Given the description of an element on the screen output the (x, y) to click on. 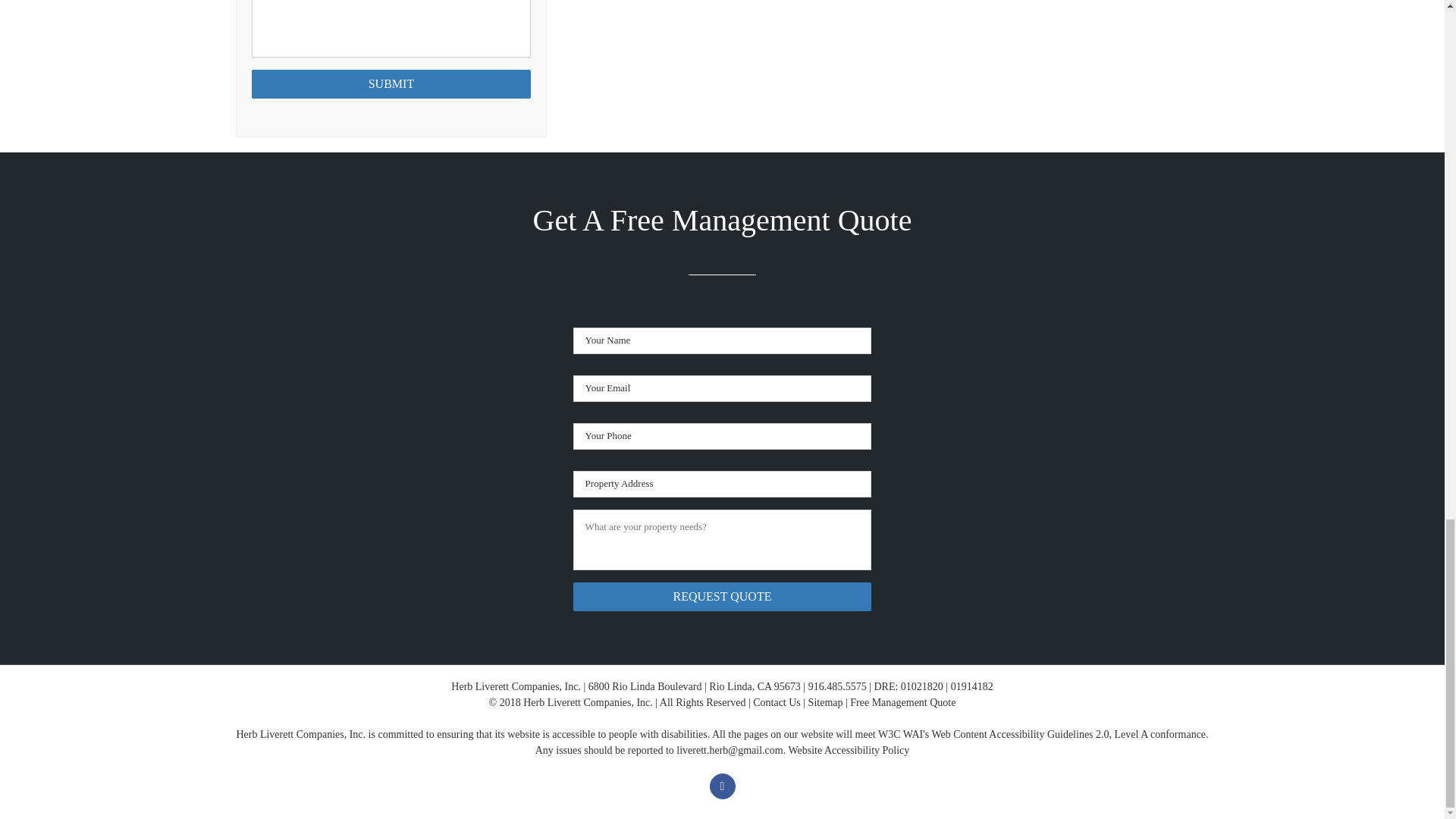
Facebook (722, 786)
Request Quote (722, 596)
Submit (391, 83)
